Given the description of an element on the screen output the (x, y) to click on. 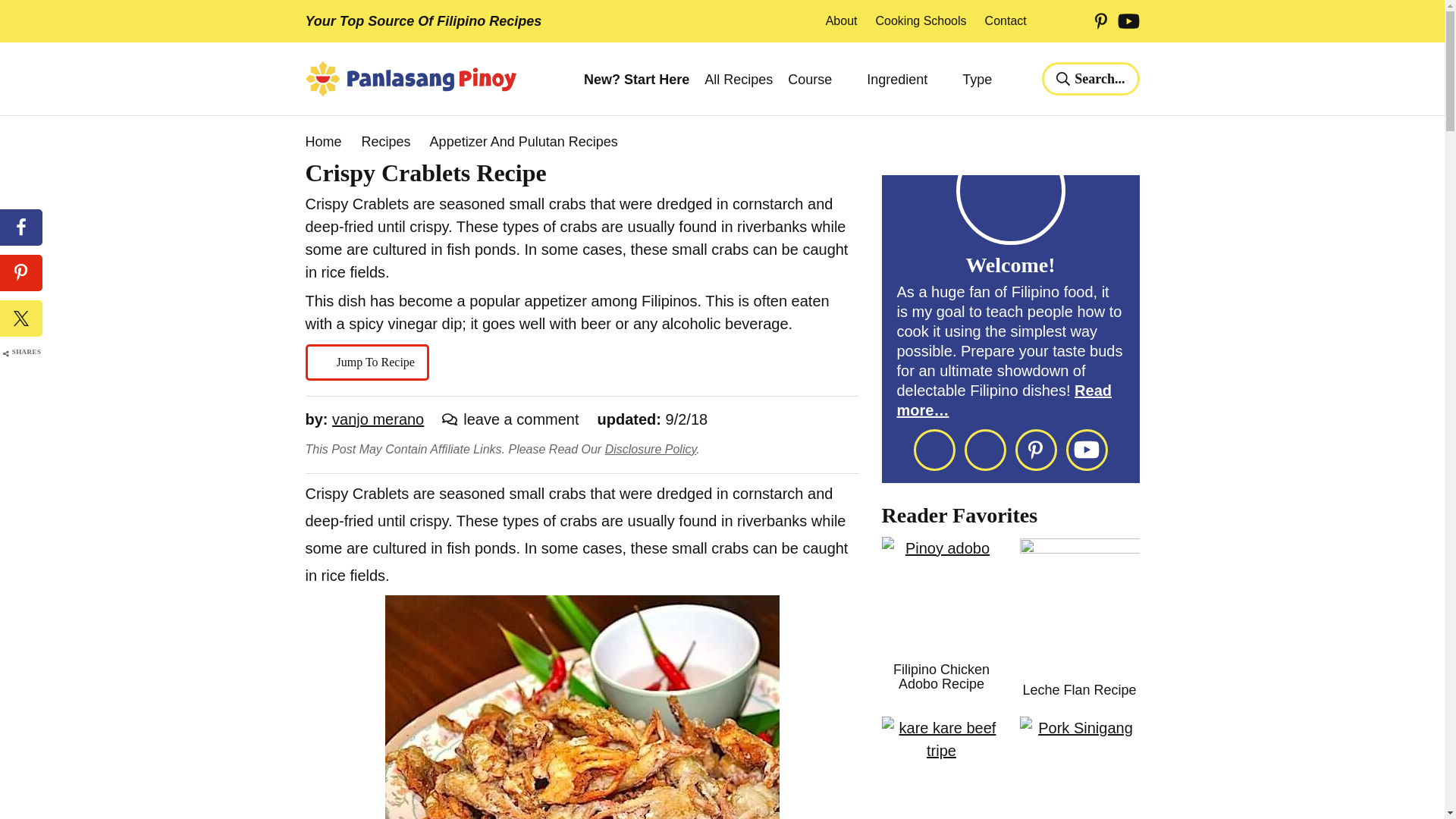
Your Top Source Of Filipino Recipes (422, 20)
Panlasang Pinoy (409, 78)
Share on Facebook (21, 227)
New? Start Here (635, 80)
About (841, 21)
Share on Pinterest (21, 272)
Contact (1005, 21)
Instagram (1075, 21)
Home (322, 141)
